Given the description of an element on the screen output the (x, y) to click on. 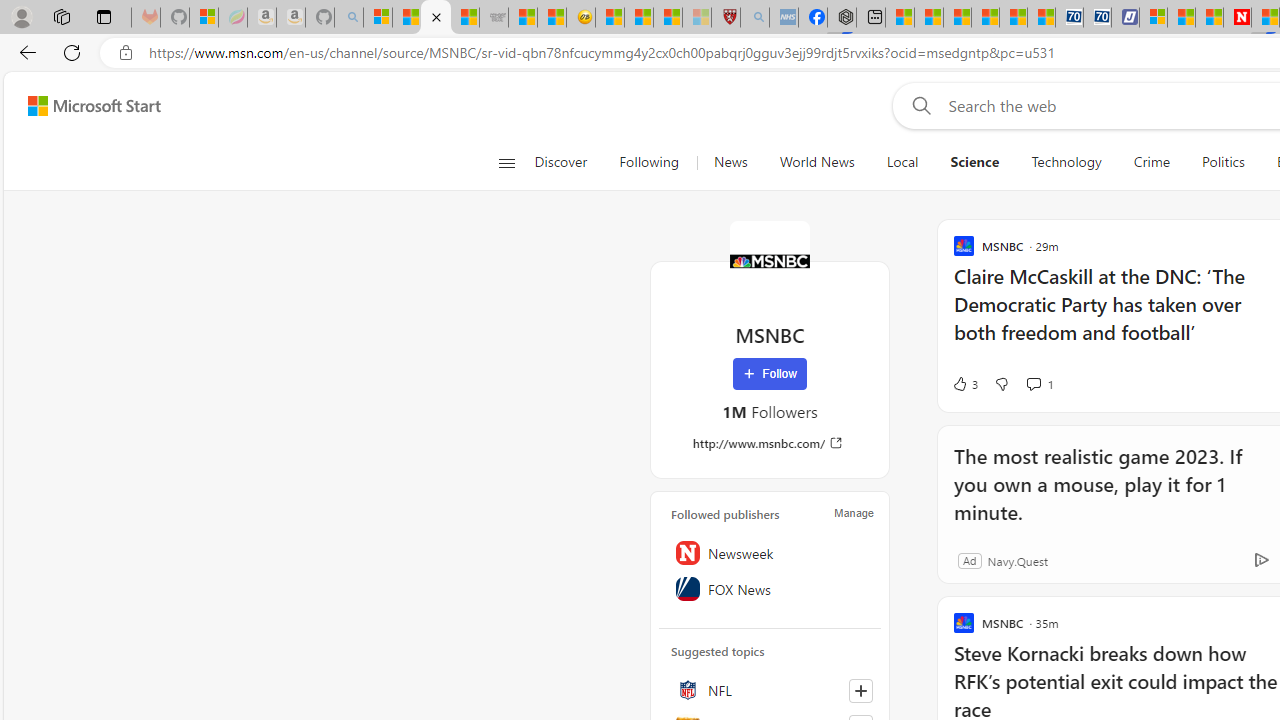
Cheap Car Rentals - Save70.com (1069, 17)
MSNBC - MSN (436, 17)
Crime (1151, 162)
Class: button-glyph (505, 162)
Navy.Quest (1017, 560)
Stocks - MSN (464, 17)
Follow (769, 373)
Open navigation menu (506, 162)
